Given the description of an element on the screen output the (x, y) to click on. 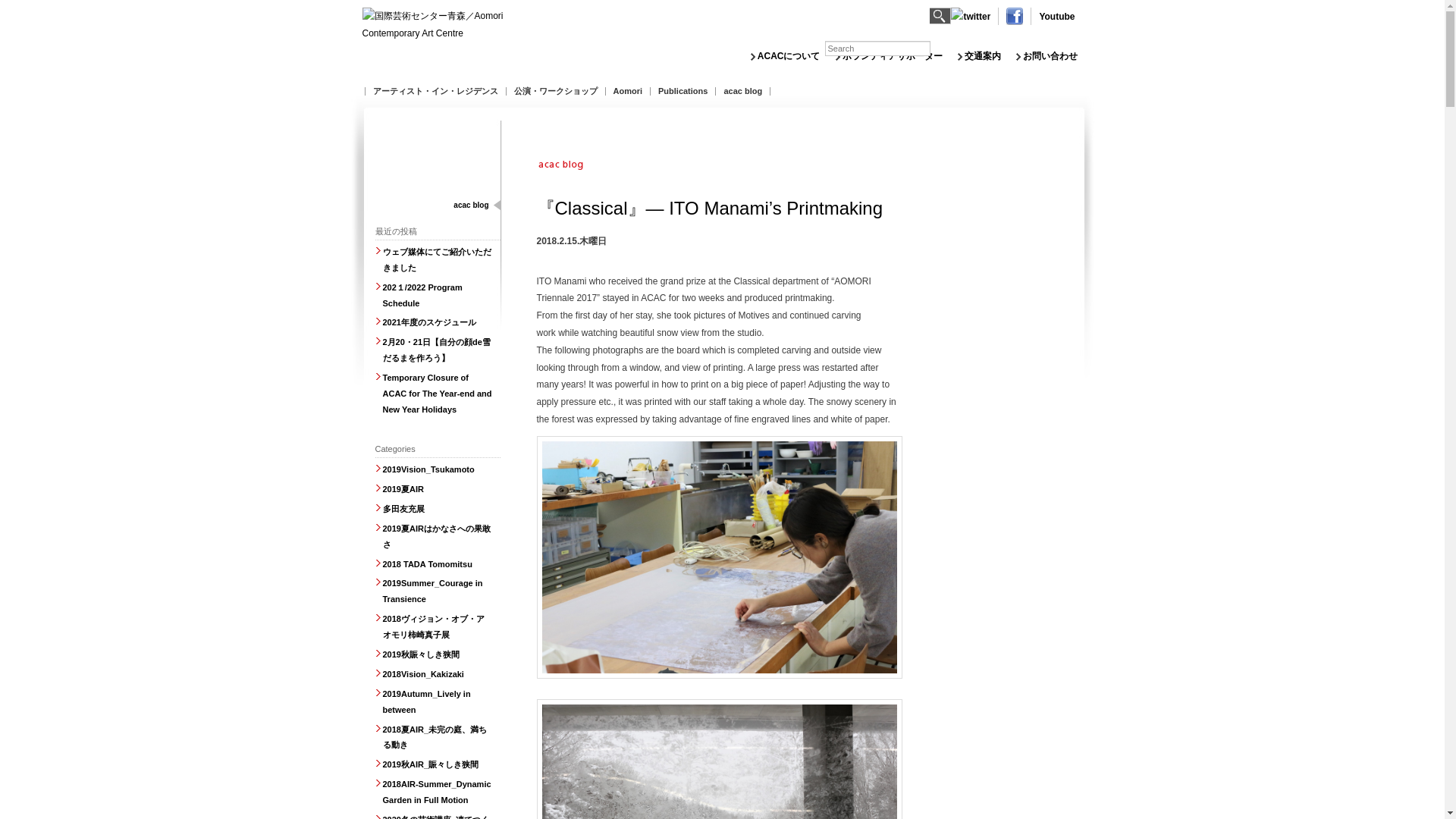
Publications (682, 90)
Aomori (627, 90)
acac blog (743, 90)
Youtube (1056, 16)
